Given the description of an element on the screen output the (x, y) to click on. 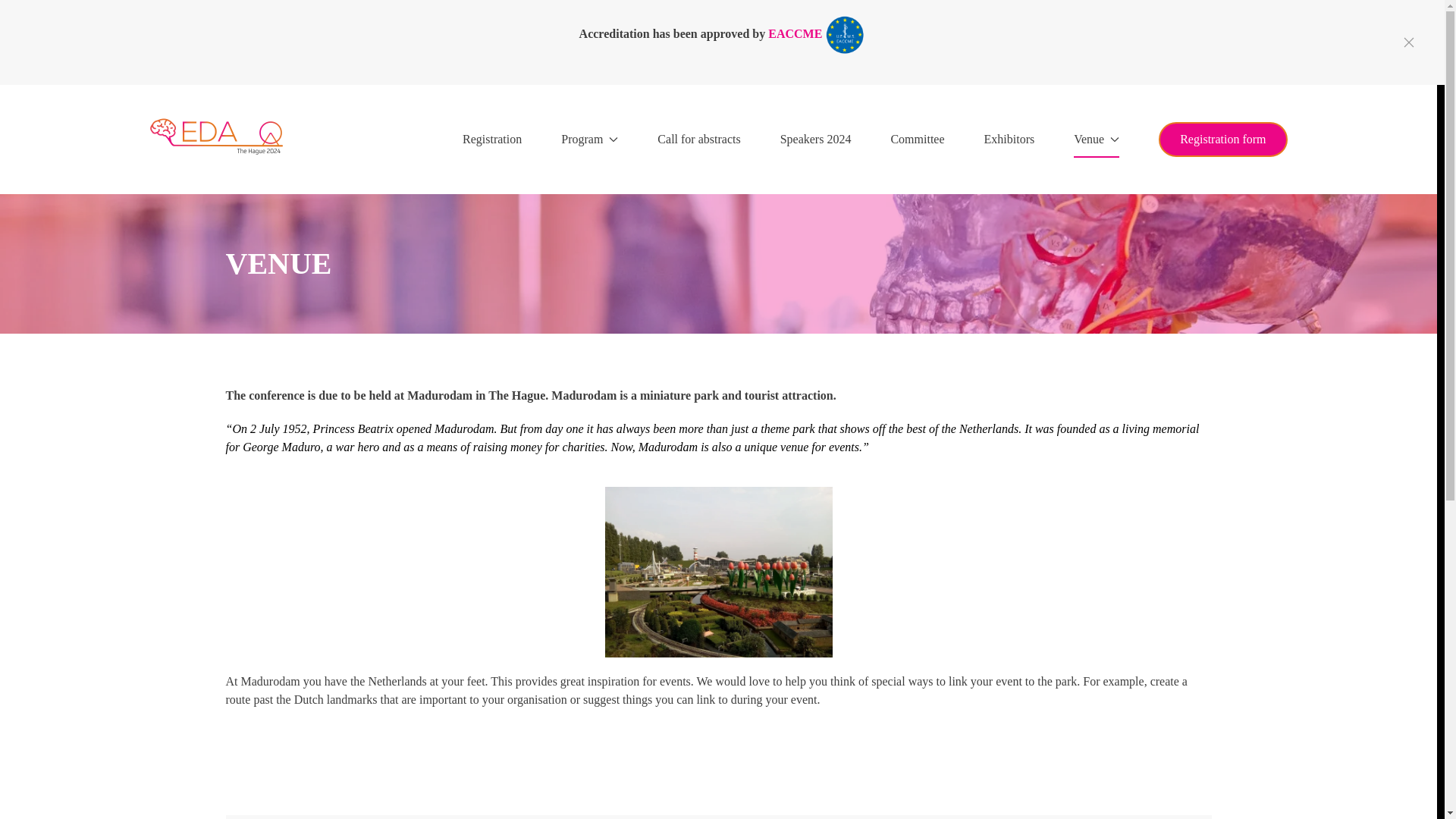
Call for abstracts (698, 138)
Registration (492, 138)
Speakers 2024 (815, 138)
Program (588, 138)
EACCME (795, 33)
Registration form (1222, 139)
